Given the description of an element on the screen output the (x, y) to click on. 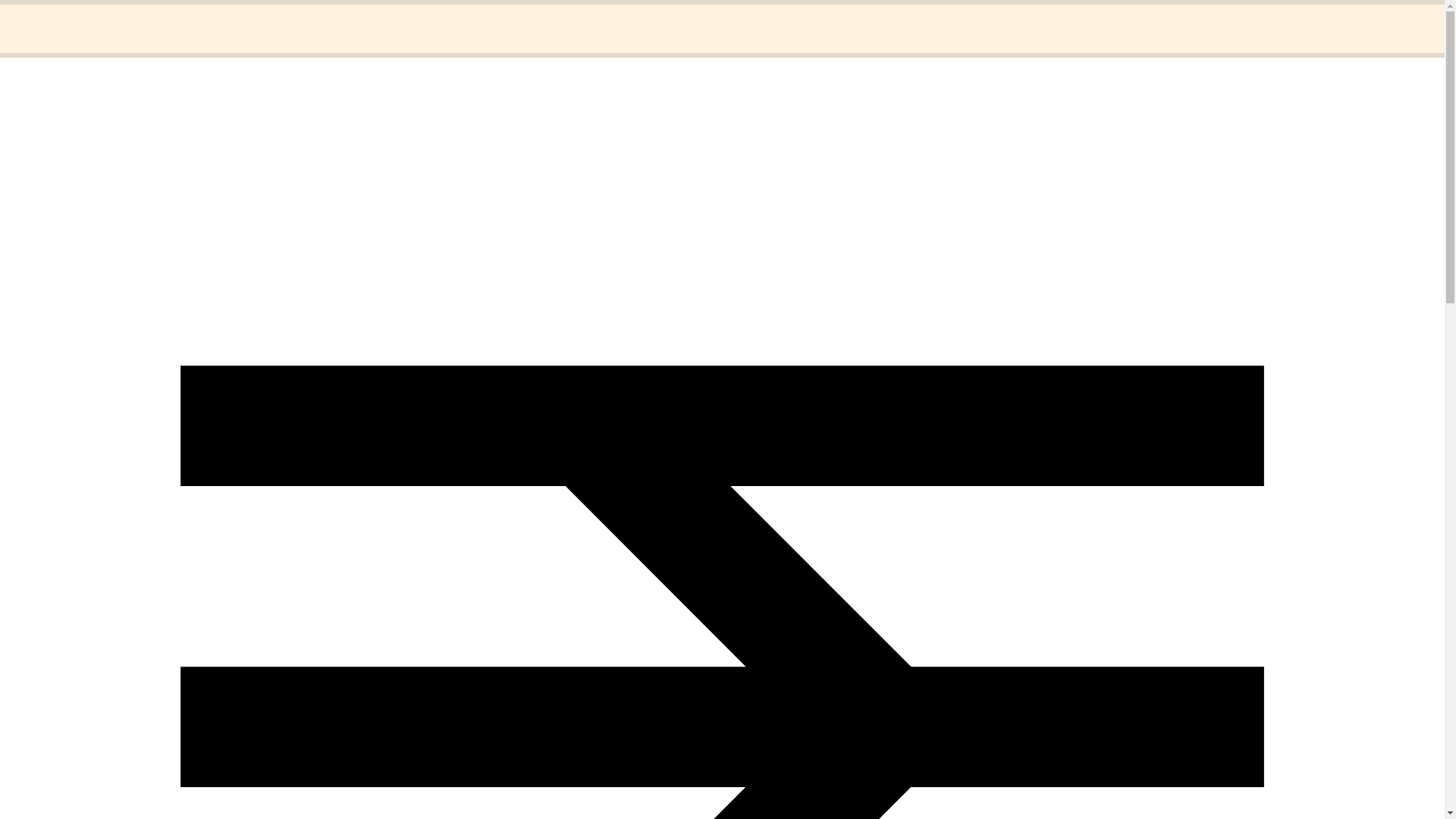
Home (50, 18)
